Given the description of an element on the screen output the (x, y) to click on. 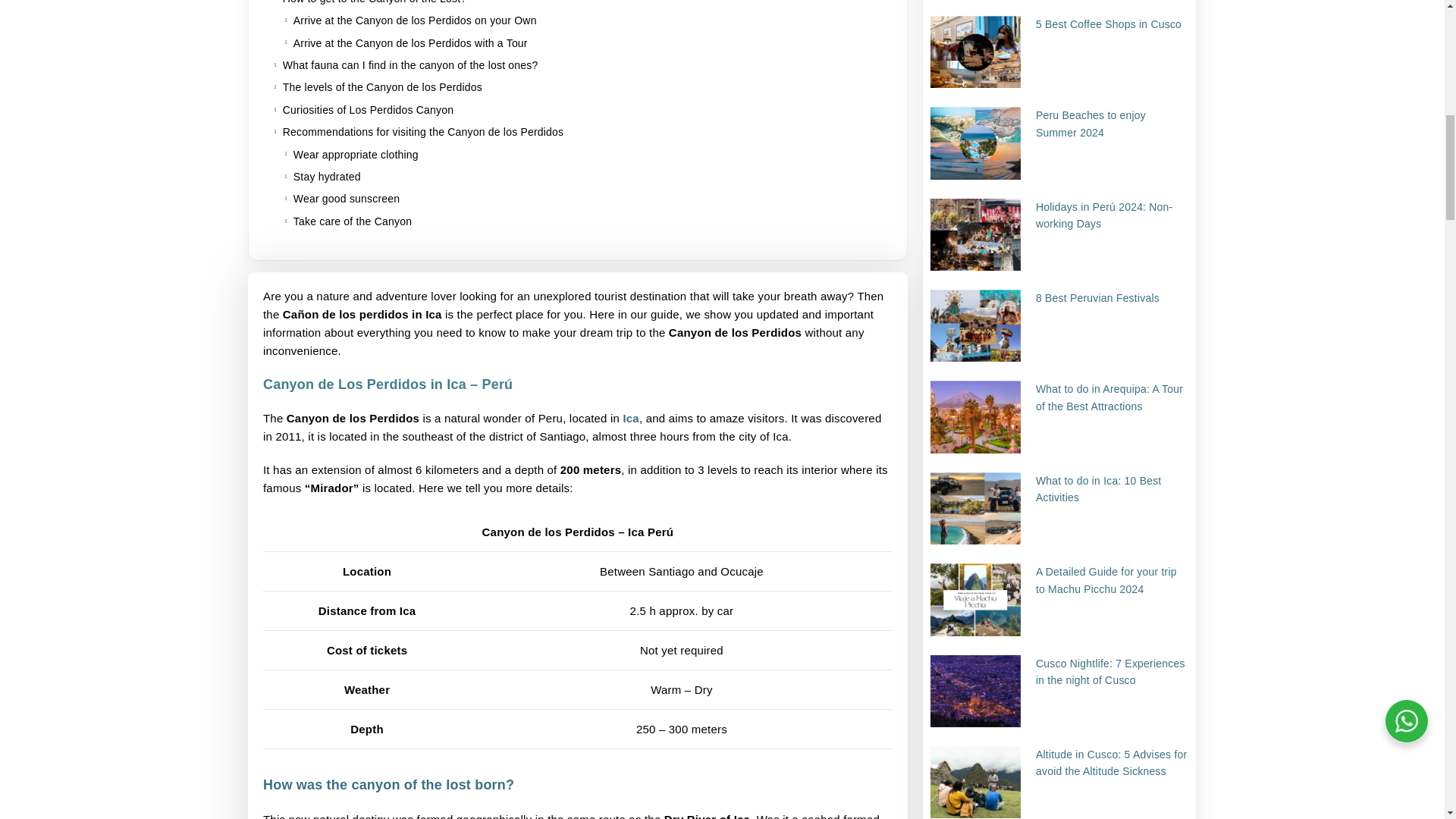
Curiosities of Los Perdidos Canyon (367, 109)
How to get to the Canyon of the Lost? (373, 3)
Stay hydrated (327, 176)
Wear good sunscreen (347, 198)
Ica (631, 418)
The levels of the Canyon de los Perdidos (381, 86)
Wear appropriate clothing (356, 154)
What fauna can I find in the canyon of the lost ones? (410, 64)
Arrive at the Canyon de los Perdidos on your Own (415, 20)
Arrive at the Canyon de los Perdidos with a Tour  (412, 43)
Take care of the Canyon (353, 221)
Recommendations for visiting the Canyon de los Perdidos   (426, 131)
